Given the description of an element on the screen output the (x, y) to click on. 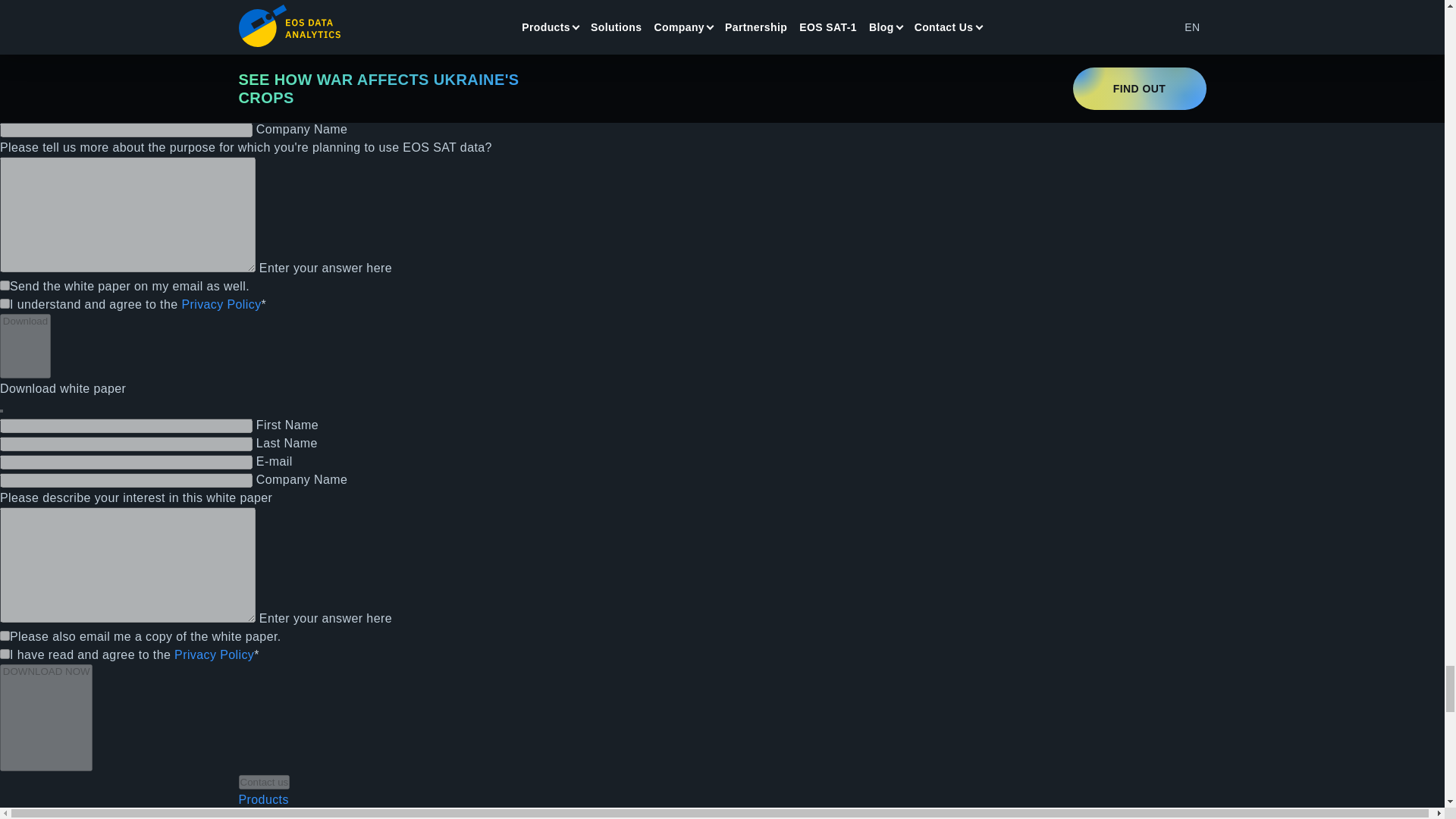
1 (5, 303)
1 (5, 285)
1 (5, 654)
1 (5, 635)
